Given the description of an element on the screen output the (x, y) to click on. 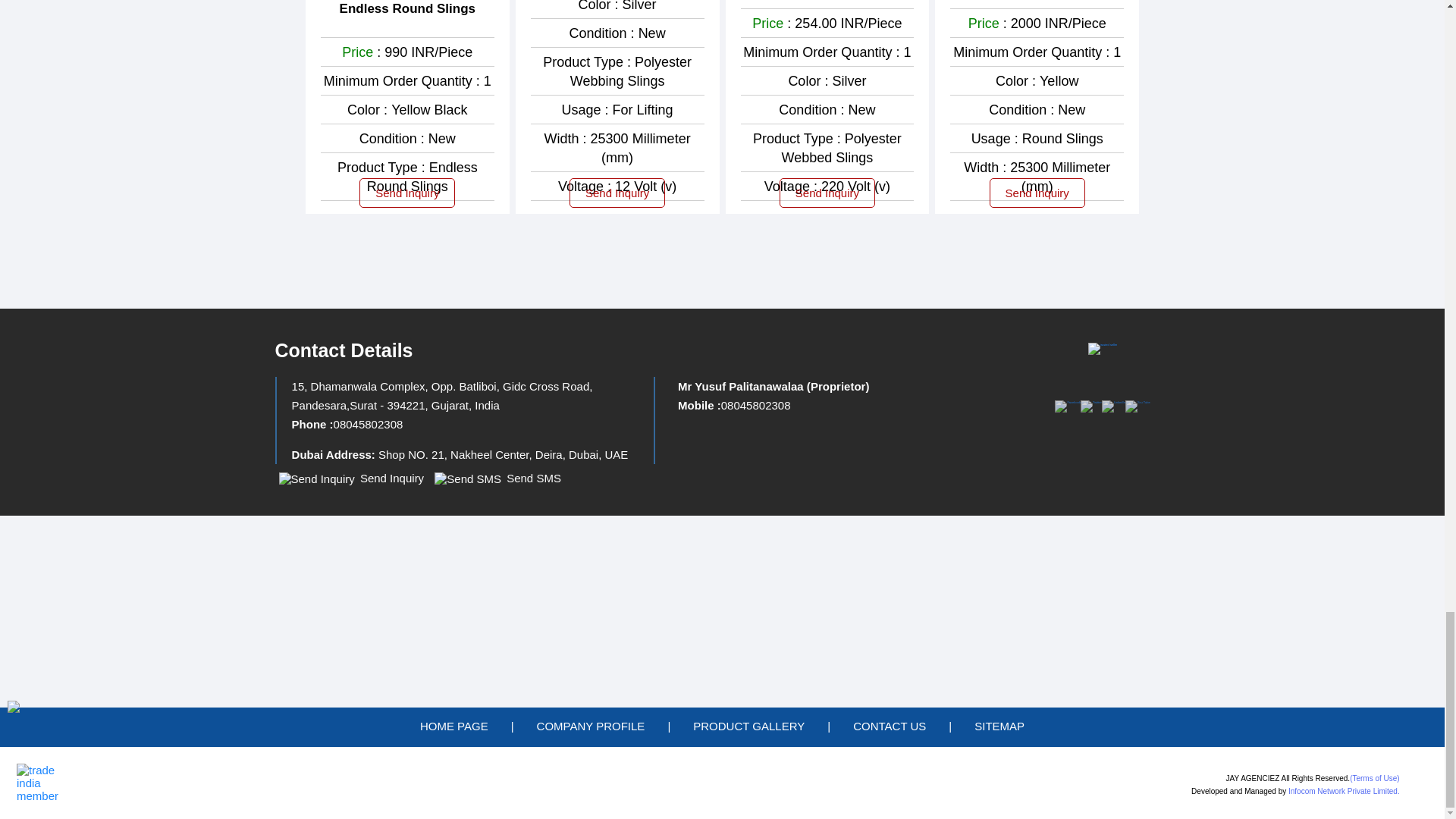
LinkedIn (1113, 402)
Twitter (1091, 402)
You Tube (1137, 402)
Send Inquiry (317, 478)
Facebook (1067, 402)
Send SMS (466, 478)
